Given the description of an element on the screen output the (x, y) to click on. 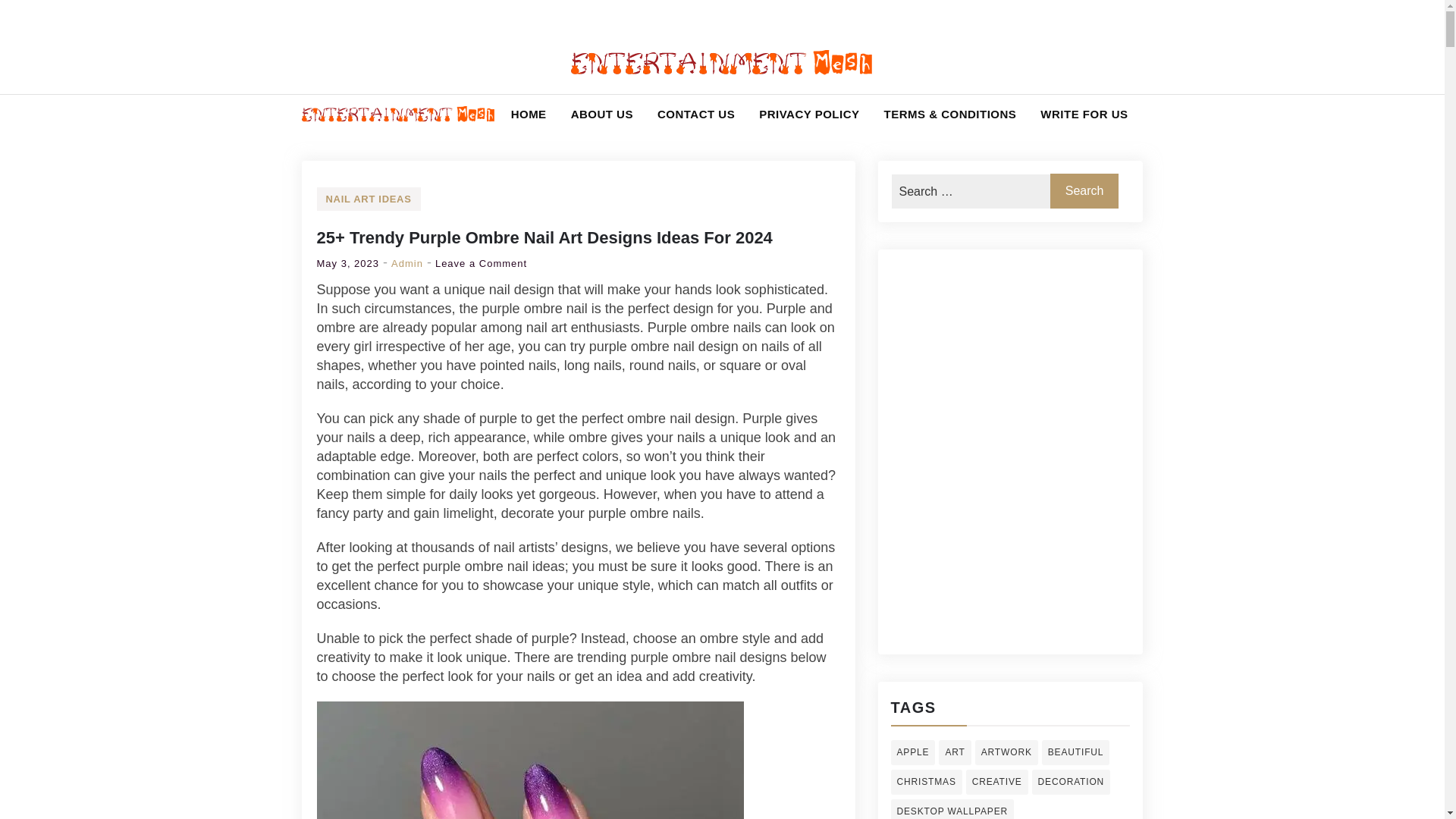
WRITE FOR US (1083, 113)
May 3, 2023 (348, 263)
CONTACT US (695, 113)
PRIVACY POLICY (808, 113)
Admin (407, 263)
Search (1084, 190)
NAIL ART IDEAS (368, 198)
ABOUT US (602, 113)
Search (1084, 190)
Search (46, 31)
HOME (529, 113)
